Given the description of an element on the screen output the (x, y) to click on. 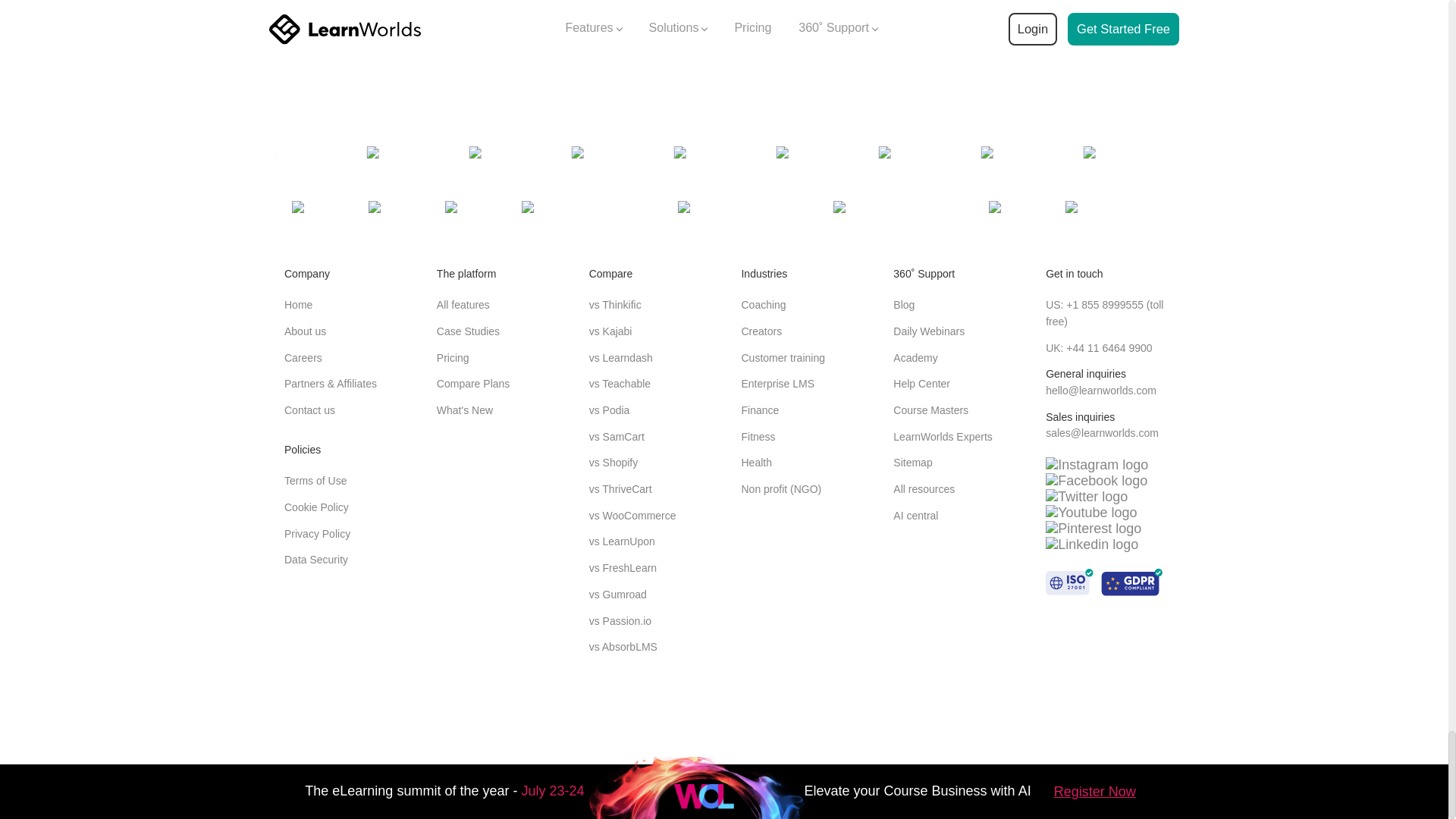
send email to LearnWorlds (1100, 390)
send email to LearnWorlds (1101, 432)
